Given the description of an element on the screen output the (x, y) to click on. 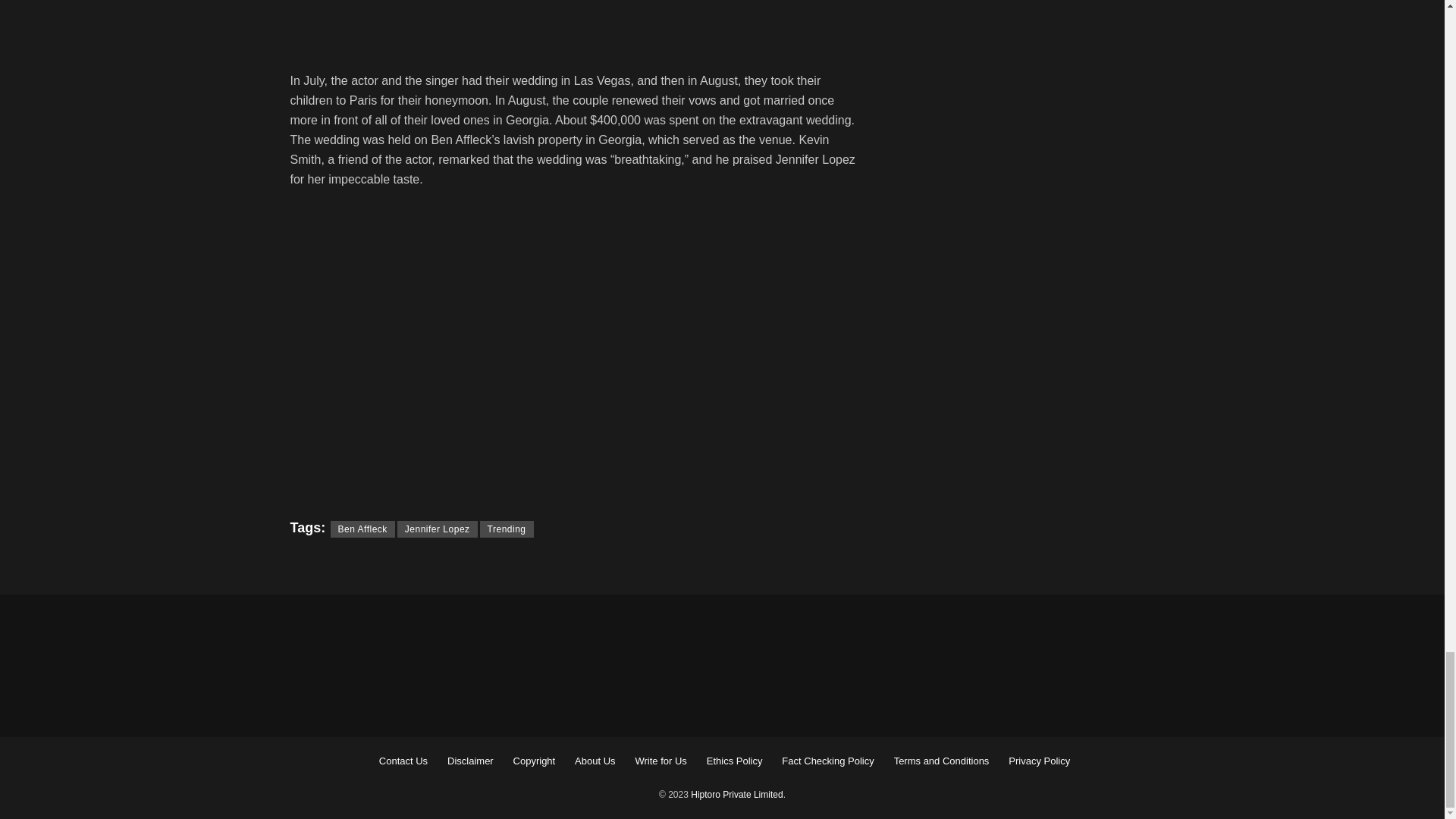
Hiptoro (736, 794)
